Given the description of an element on the screen output the (x, y) to click on. 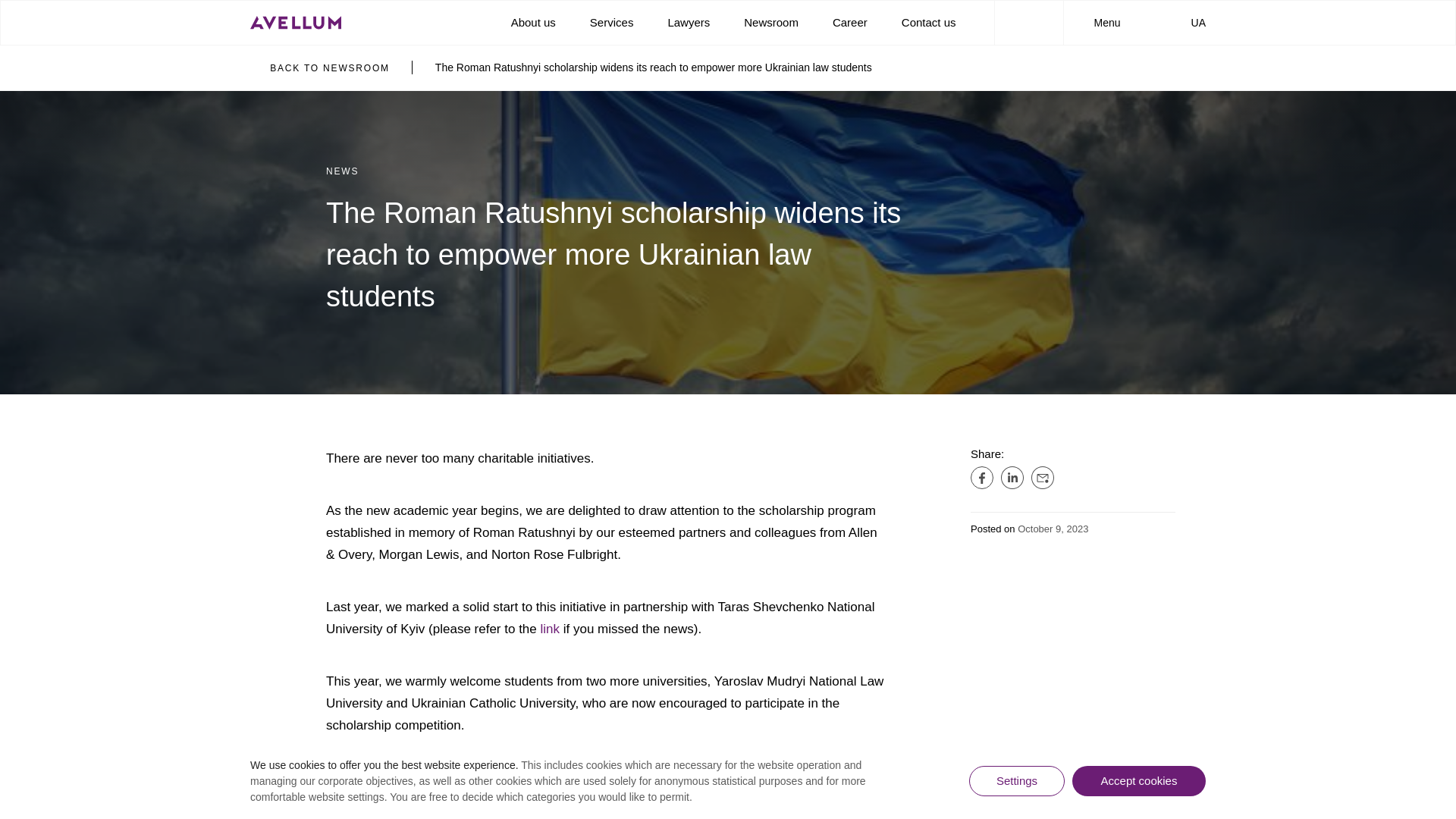
Restructuring (517, 584)
Compliance and Internal investigations (545, 687)
UA (1190, 22)
White-collar crime (342, 703)
Government relations (351, 584)
EN (1154, 376)
Share on Linkedin (1012, 477)
Lawyers (688, 21)
International arbitration (355, 536)
link (550, 628)
Tax (305, 561)
Contact us (928, 21)
BACK TO NEWSROOM (320, 68)
Finance (503, 608)
Mergers and Acquisitions (547, 536)
